Given the description of an element on the screen output the (x, y) to click on. 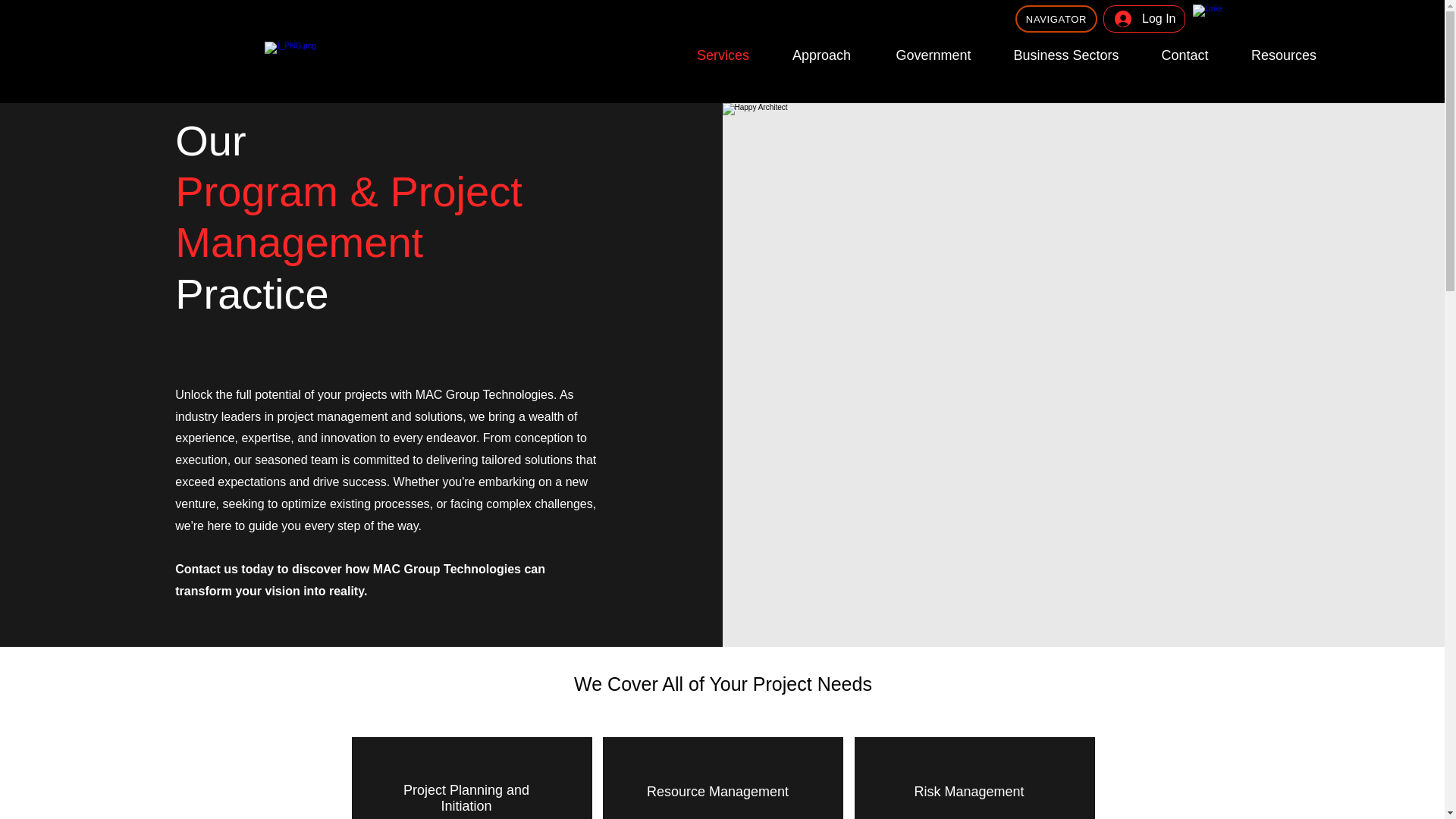
Log In (1144, 18)
Services (723, 55)
Approach (821, 55)
NAVIGATOR (1055, 18)
Contact (1184, 55)
Business Sectors (1065, 55)
Government (932, 55)
